Given the description of an element on the screen output the (x, y) to click on. 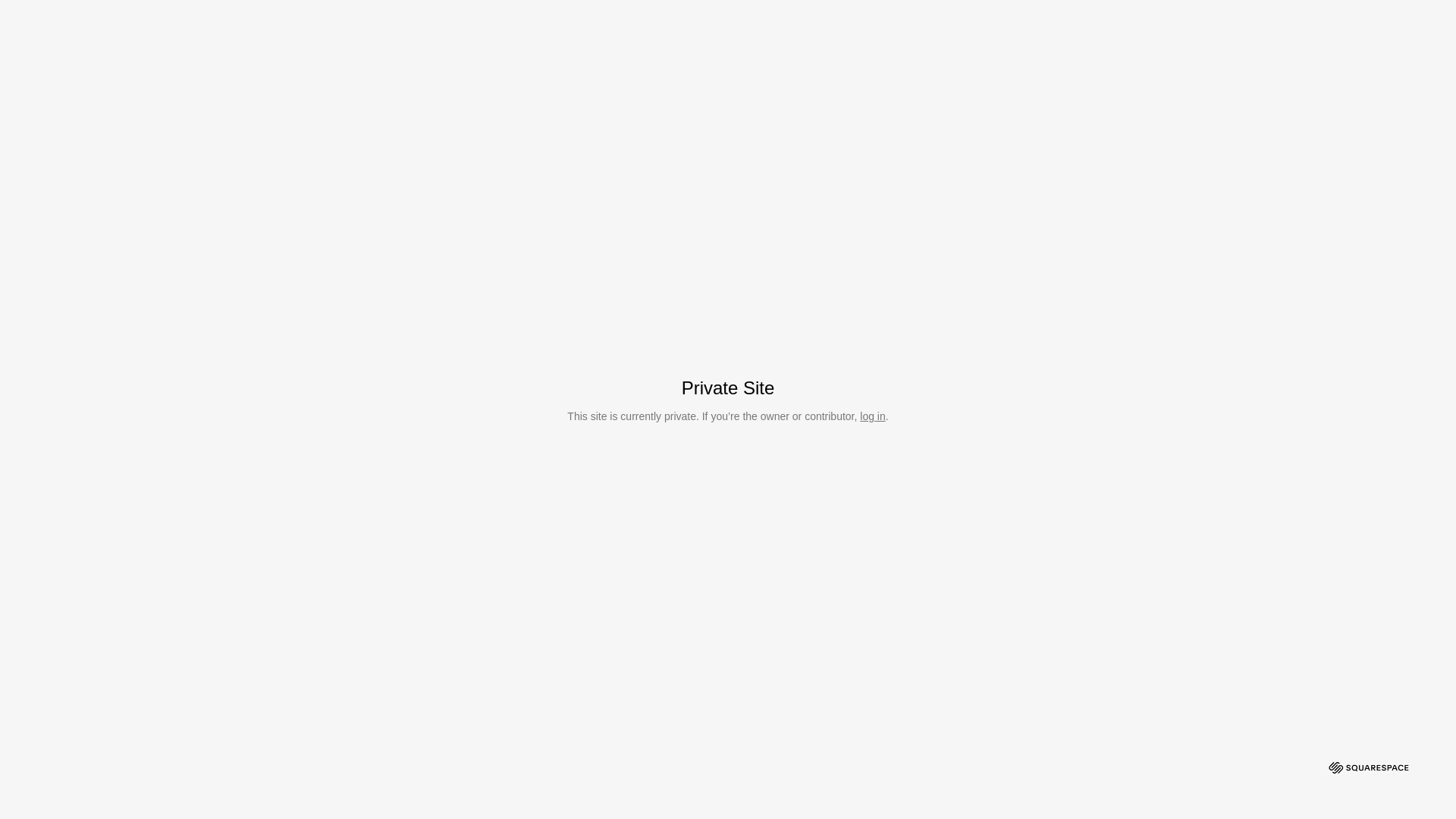
log in Element type: text (871, 416)
